Given the description of an element on the screen output the (x, y) to click on. 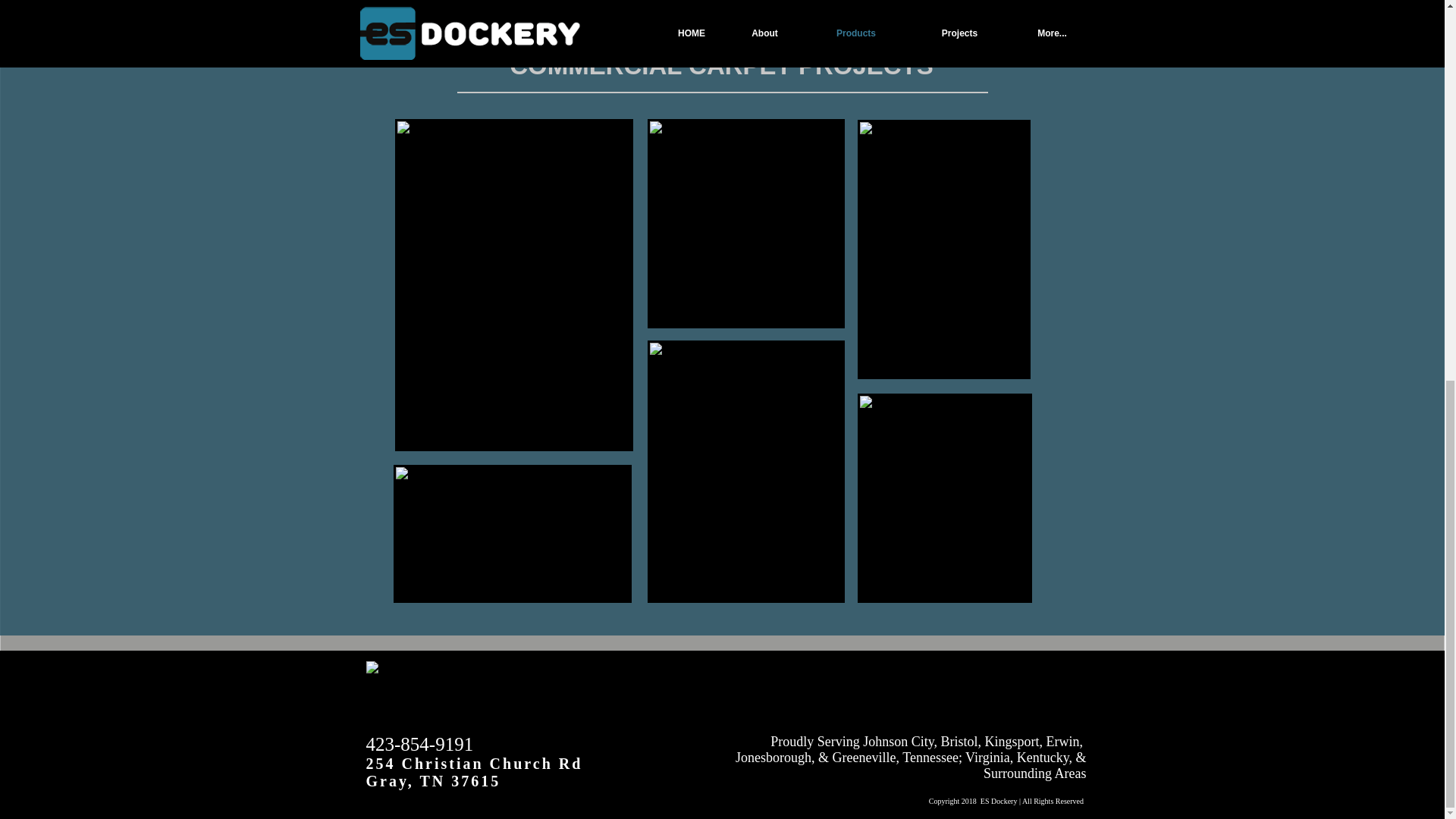
254 Christian Church Rd  (476, 763)
102 Main Street Office Building - Commercial Carpet  (745, 222)
Gray, TN 37615 (432, 781)
423-854-9191 (419, 743)
Bowers Dentist - Commercial Carpet Squares (511, 532)
